Given the description of an element on the screen output the (x, y) to click on. 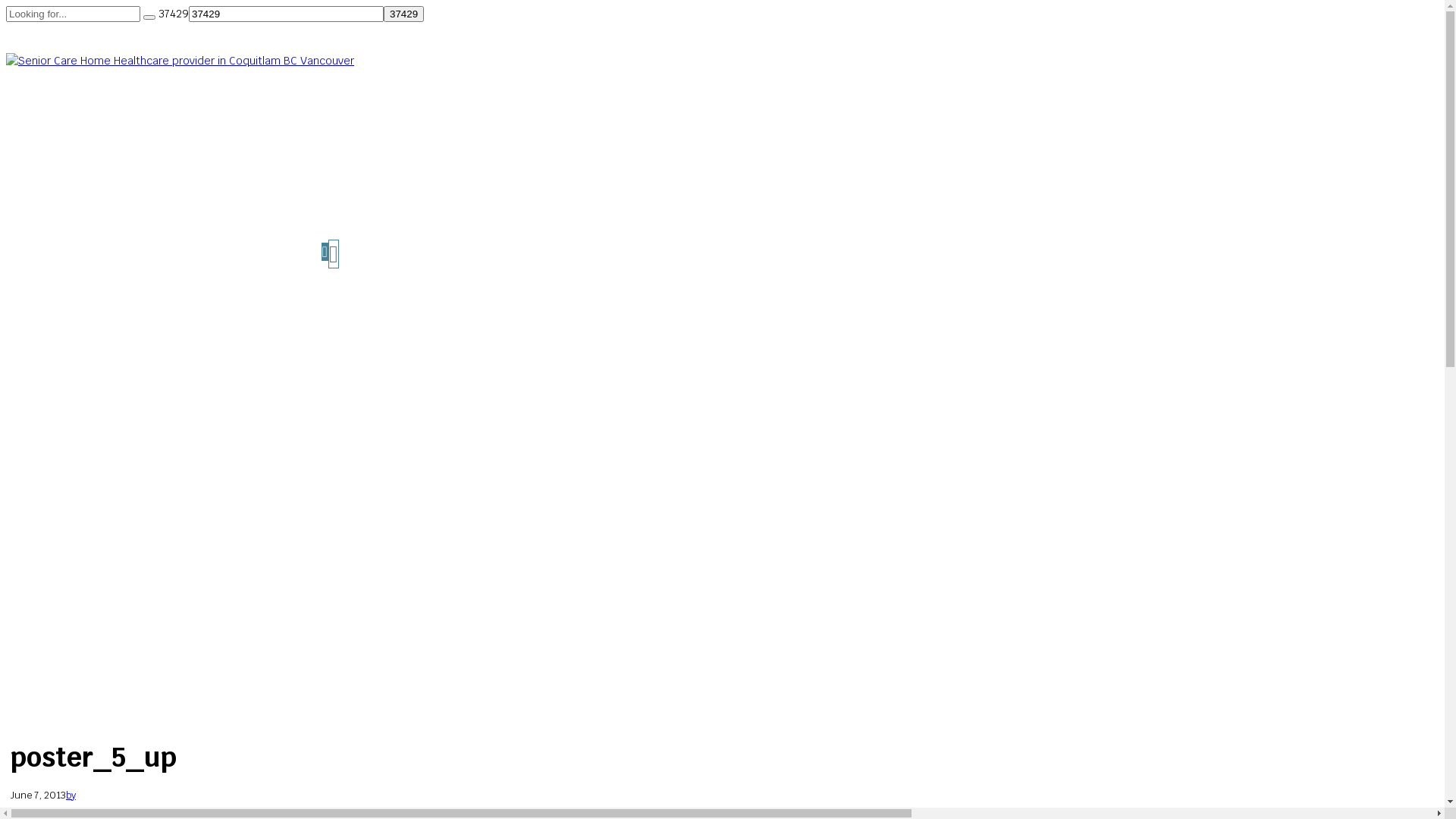
by Element type: text (70, 794)
37429 Element type: text (403, 13)
